Given the description of an element on the screen output the (x, y) to click on. 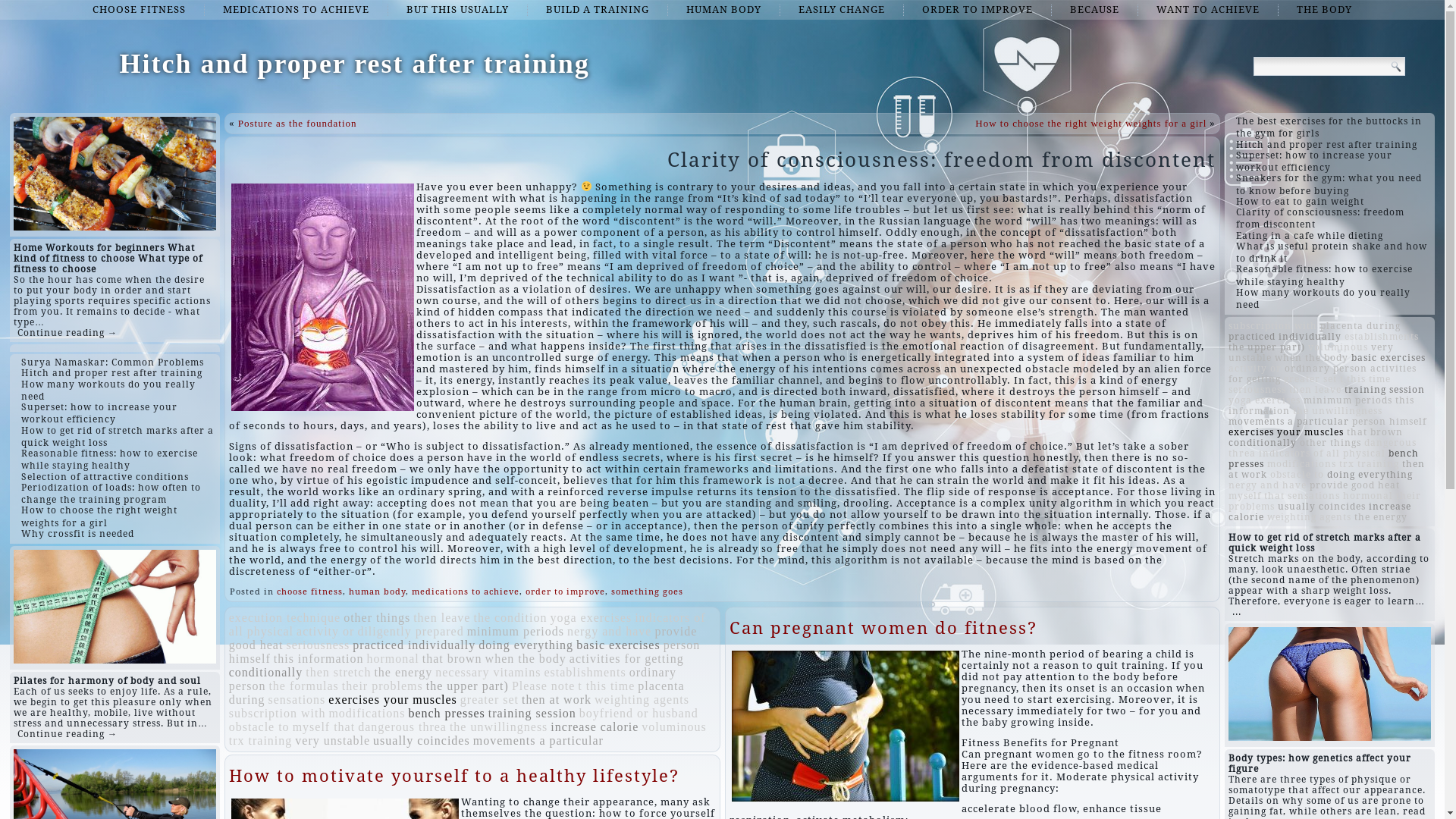
indicators of all physical Element type: text (467, 624)
increase calorie Element type: text (594, 726)
nergy and have Element type: text (1267, 485)
other things Element type: text (1330, 442)
boyfriend or husband Element type: text (638, 712)
Bodhi Yoga Concept Element type: text (863, 627)
Surya Namaskar: Common Problems Element type: text (112, 362)
sensations Element type: text (1313, 495)
trx training Element type: text (1369, 463)
BUILD A TRAINING Element type: text (597, 9)
then at work Element type: text (1326, 469)
dangerous threa Element type: text (1322, 447)
medications to achieve Element type: text (465, 591)
the upper part) Element type: text (1266, 347)
person himself Element type: text (464, 651)
seriousness Element type: text (1257, 389)
choose fitness Element type: text (309, 591)
training session Element type: text (532, 712)
establishments Element type: text (584, 671)
nergy and have Element type: text (609, 630)
BUT THIS USUALLY Element type: text (457, 9)
their problems Element type: text (1324, 500)
the energy Element type: text (402, 671)
Why crossfit is needed Element type: text (77, 533)
BECAUSE Element type: text (1094, 9)
when the body Element type: text (1311, 357)
conditionally Element type: text (1262, 442)
MEDICATIONS TO ACHIEVE Element type: text (295, 9)
increase calorie Element type: text (1319, 511)
Hitch and proper rest after training Element type: text (1326, 144)
diligently prepared Element type: text (410, 630)
practiced individually Element type: text (1284, 336)
the formulas Element type: text (303, 685)
then stretch Element type: text (337, 671)
How to motivate yourself to a healthy lifestyle? Element type: text (454, 775)
The best exercises for the buttocks in the gym for girls Element type: text (1328, 127)
Clarity of consciousness: freedom from discontent Element type: text (1320, 218)
then at work Element type: text (556, 699)
their problems Element type: text (382, 685)
very unstable Element type: text (332, 740)
yoga exercises Element type: text (1264, 400)
person himself Element type: text (1389, 421)
placenta during Element type: text (1360, 325)
modifications Element type: text (1301, 463)
obstacle to Element type: text (259, 726)
bench presses Element type: text (1323, 458)
modifications Element type: text (366, 712)
seriousness Element type: text (317, 644)
that brown Element type: text (452, 658)
myself that Element type: text (1256, 495)
exercises your muscles Element type: text (392, 699)
usually coincides Element type: text (421, 740)
Selection of attractive conditions Element type: text (104, 476)
something goes Element type: text (647, 591)
subscription with Element type: text (1272, 325)
bench presses Element type: text (445, 712)
voluminous Element type: text (1338, 347)
THE BODY Element type: text (1324, 9)
obstacle to Element type: text (1297, 474)
exercises your muscles Element type: text (1285, 431)
doing everything Element type: text (525, 644)
greater set Element type: text (489, 699)
Eating in a cafe while dieting Element type: text (1309, 235)
order to improve Element type: text (565, 591)
Sneakers for the gym: what you need to know before buying Element type: text (1328, 183)
the upper part) Element type: text (467, 685)
provide good heat Element type: text (463, 637)
Posture as the foundation Element type: text (297, 122)
other things Element type: text (376, 617)
that brown Element type: text (1374, 431)
conditionally Element type: text (265, 671)
human body Element type: text (376, 591)
very unstable Element type: text (1310, 352)
HUMAN BODY Element type: text (723, 9)
voluminous Element type: text (673, 726)
How to eat to gain weight Element type: text (1300, 201)
movements a particular Element type: text (1288, 421)
What is useful protein shake and how to drink it Element type: text (1331, 252)
training session Element type: text (1384, 389)
How to choose the right weight weights for a girl Element type: text (99, 516)
How many workouts do you really need Element type: text (108, 390)
then leave Element type: text (1315, 389)
this information Element type: text (1321, 405)
indicators of all physical Element type: text (1321, 453)
myself that Element type: text (323, 726)
EASILY CHANGE Element type: text (841, 9)
How to get rid of stretch marks after a quick weight loss Element type: text (117, 436)
the unwillingness Element type: text (1337, 410)
Reasonable fitness: how to exercise while staying healthy Element type: text (109, 459)
then leave Element type: text (441, 617)
Superset: how to increase your workout efficiency Element type: text (1314, 161)
Hitch and proper rest after training Element type: text (111, 372)
establishments Element type: text (1381, 336)
minimum periods Element type: text (515, 630)
the unwillingness Element type: text (498, 726)
Reasonable fitness: how to exercise while staying healthy Element type: text (1324, 274)
Please note Element type: text (542, 685)
sensations Element type: text (297, 699)
this information Element type: text (318, 658)
ordinary person Element type: text (452, 678)
execution technique Element type: text (284, 617)
weighting agents Element type: text (1309, 516)
activities for getting Element type: text (626, 658)
activity or Element type: text (325, 630)
How many workouts do you really need Element type: text (1323, 298)
doing everything Element type: text (1369, 474)
hormonal Element type: text (392, 658)
Superset: how to increase your workout efficiency Element type: text (99, 412)
activity or Element type: text (1254, 368)
trx training Element type: text (260, 740)
hormonal Element type: text (1368, 495)
basic exercises Element type: text (618, 644)
dangerous threa Element type: text (401, 726)
CHOOSE FITNESS Element type: text (138, 9)
greater set Element type: text (1309, 378)
when the body Element type: text (525, 658)
ordinary person Element type: text (1325, 368)
How to choose the right weight weights for a girl Element type: text (1090, 122)
... Element type: text (1236, 611)
necessary vitamins Element type: text (487, 671)
minimum periods Element type: text (1347, 400)
practiced individually Element type: text (413, 644)
Hitch and proper rest after training Element type: text (354, 63)
WANT TO ACHIEVE Element type: text (1207, 9)
the energy Element type: text (1380, 516)
provide good heat Element type: text (1354, 485)
t this time Element type: text (605, 685)
activities for getting Element type: text (1322, 373)
basic exercises Element type: text (1388, 357)
movements a particular Element type: text (538, 740)
weighting agents Element type: text (641, 699)
yoga exercises Element type: text (590, 617)
ORDER TO IMPROVE Element type: text (977, 9)
placenta during Element type: text (456, 692)
usually coincides Element type: text (1321, 506)
the condition Element type: text (509, 617)
t this time Element type: text (1364, 378)
subscription with Element type: text (277, 712)
